Given the description of an element on the screen output the (x, y) to click on. 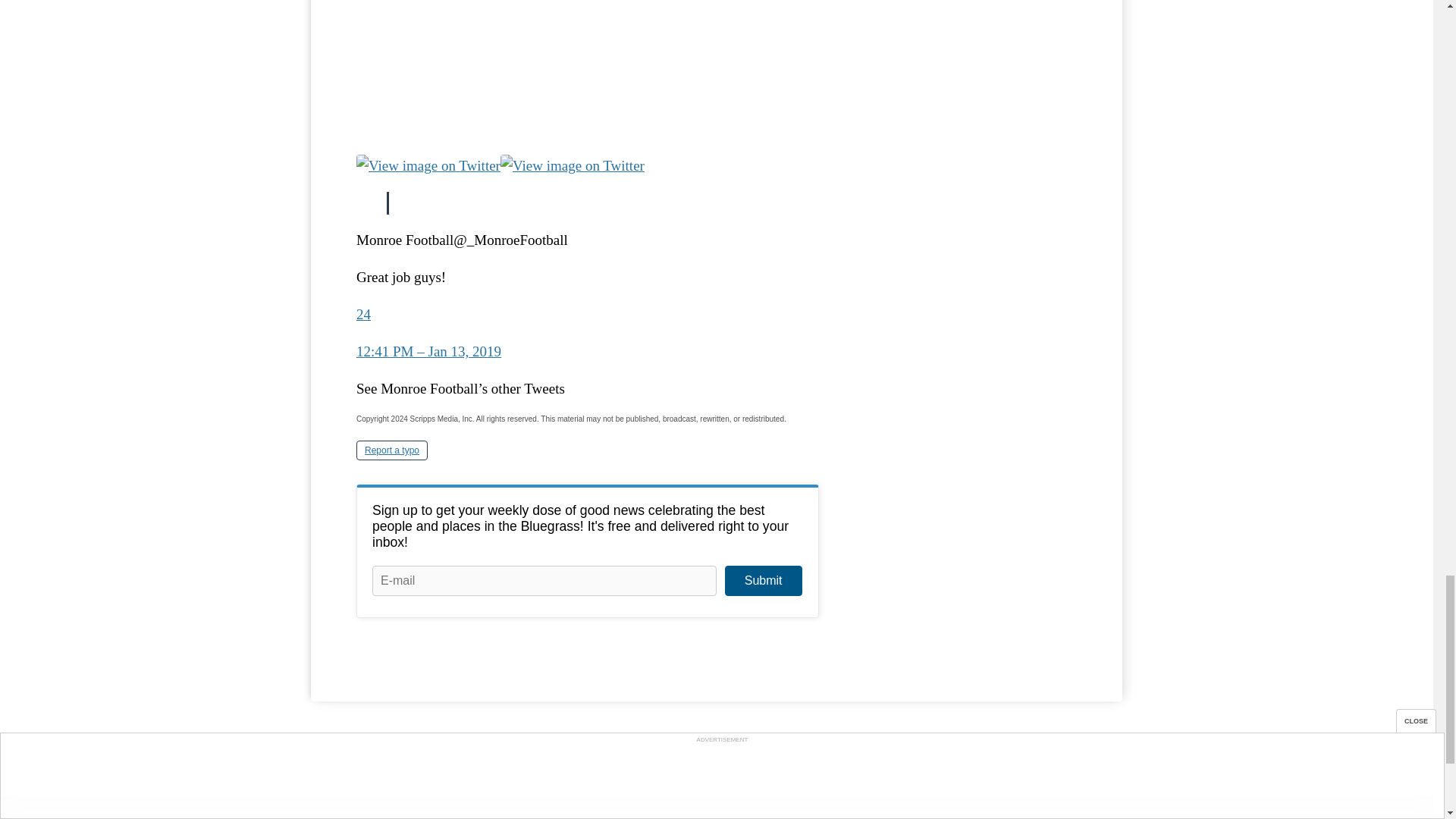
Submit (763, 580)
